Given the description of an element on the screen output the (x, y) to click on. 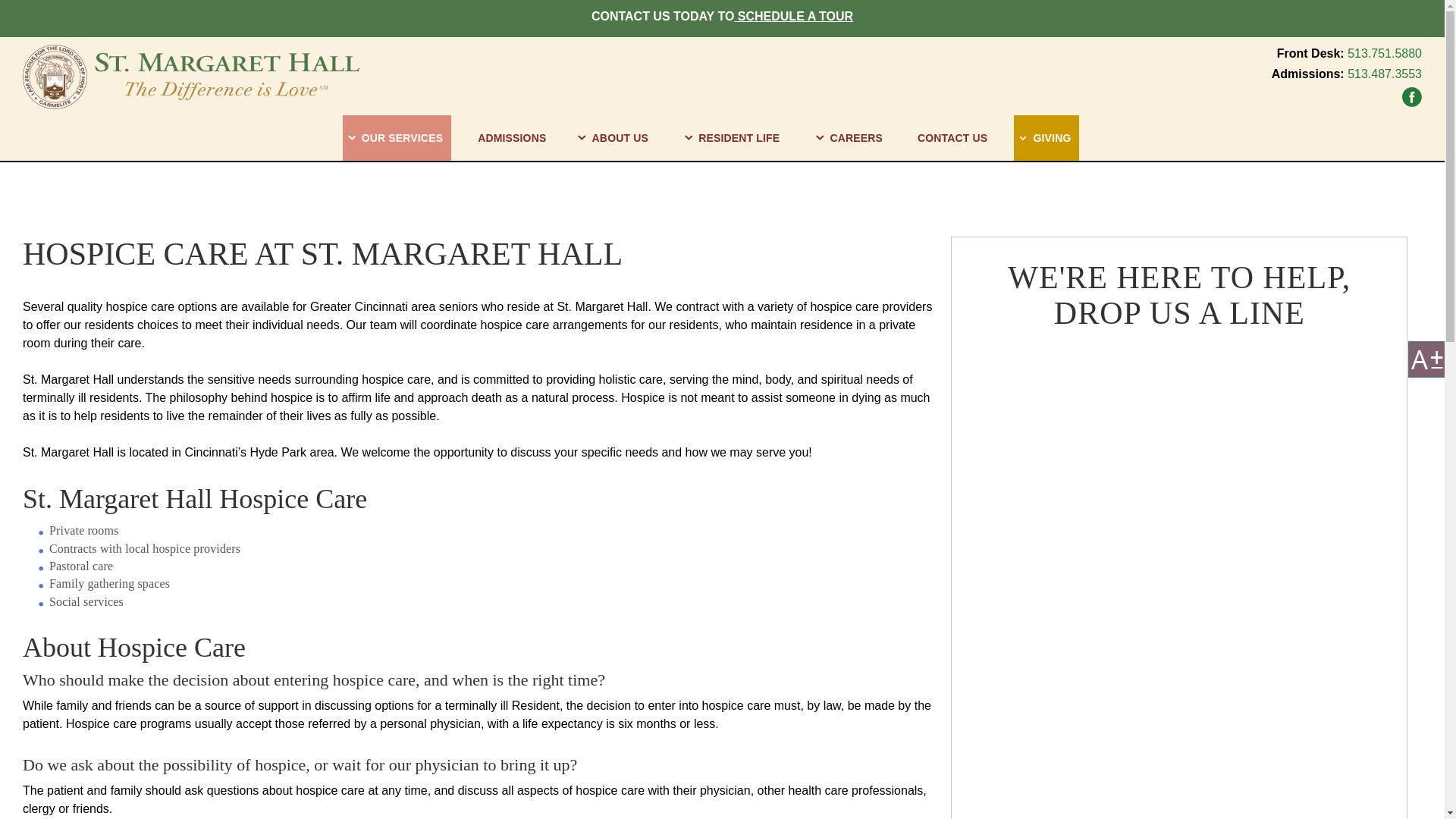
ADMISSIONS (512, 137)
Kahl Home (1411, 96)
513.751.5880 (1385, 52)
OUR SERVICES (396, 137)
CONTACT US (952, 137)
SCHEDULE A TOUR (793, 15)
513.487.3553 (1385, 73)
CAREERS (850, 137)
